Given the description of an element on the screen output the (x, y) to click on. 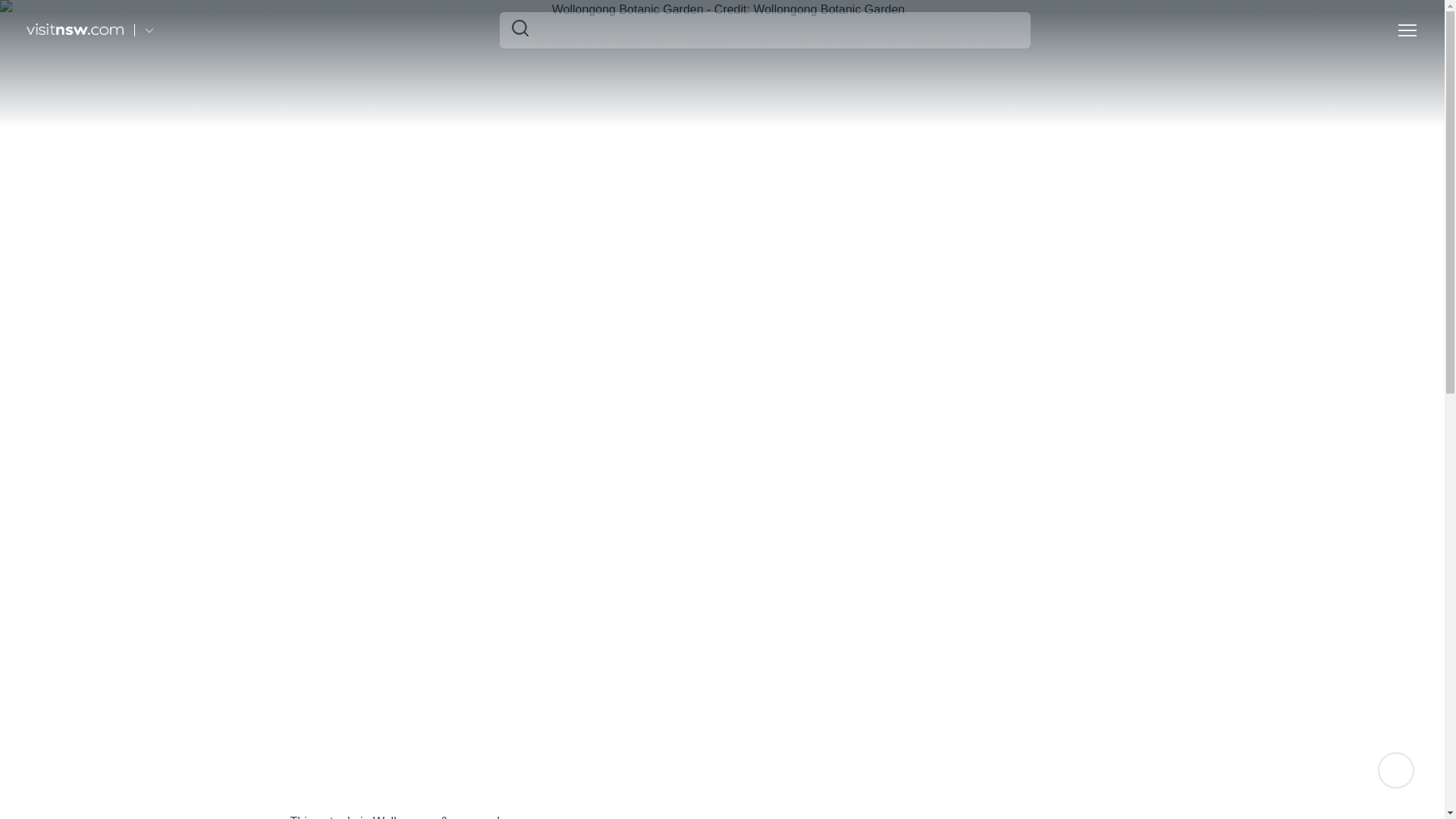
Submit the search query. (520, 27)
Home (74, 29)
Go to (148, 30)
Open (1407, 29)
Toggle navigation (1407, 31)
